Given the description of an element on the screen output the (x, y) to click on. 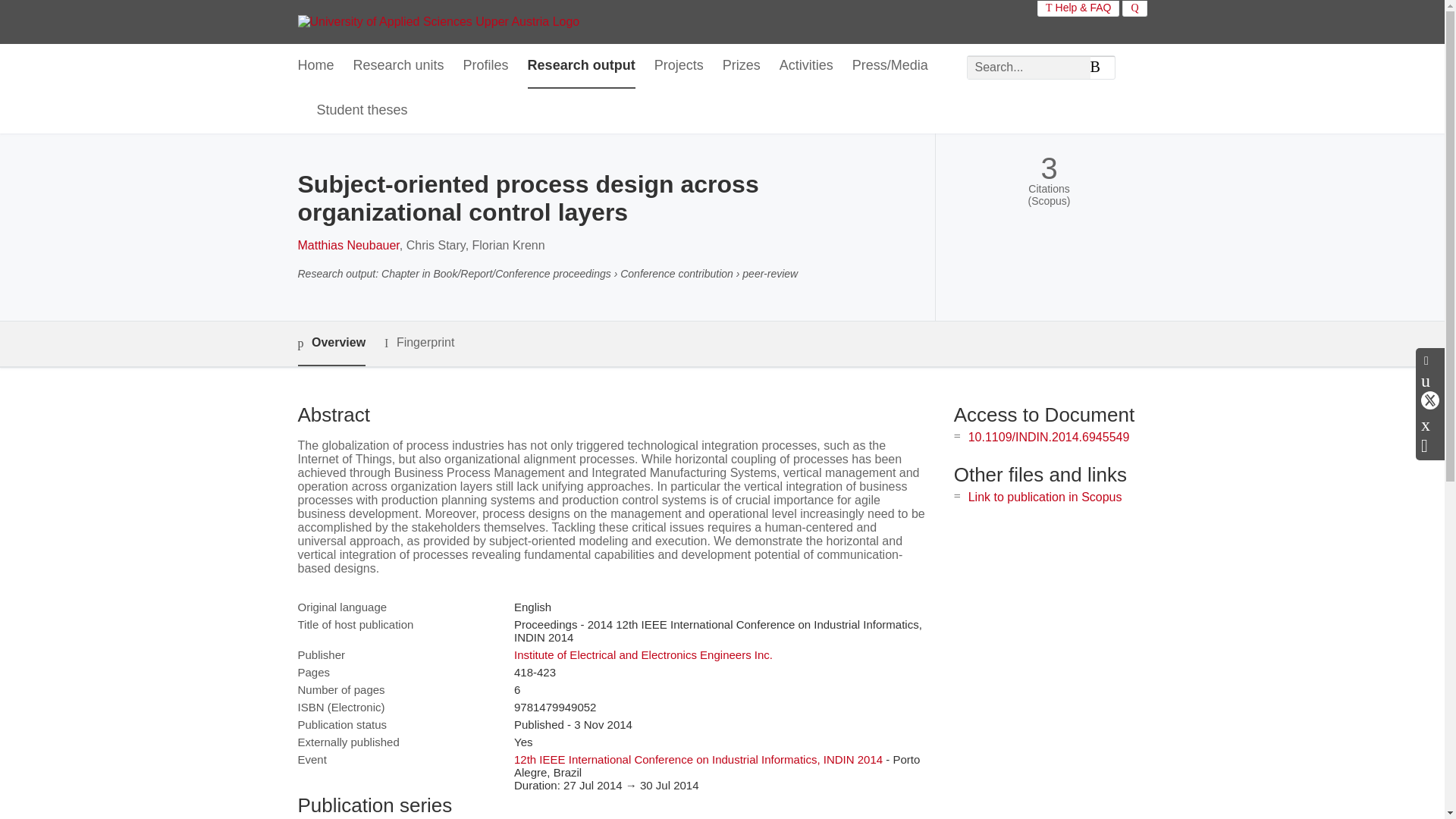
Institute of Electrical and Electronics Engineers Inc. (643, 654)
University of Applied Sciences Upper Austria Home (438, 21)
Profiles (485, 66)
Overview (331, 343)
Projects (678, 66)
Student theses (362, 110)
Matthias Neubauer (347, 245)
Activities (805, 66)
Research units (398, 66)
